Given the description of an element on the screen output the (x, y) to click on. 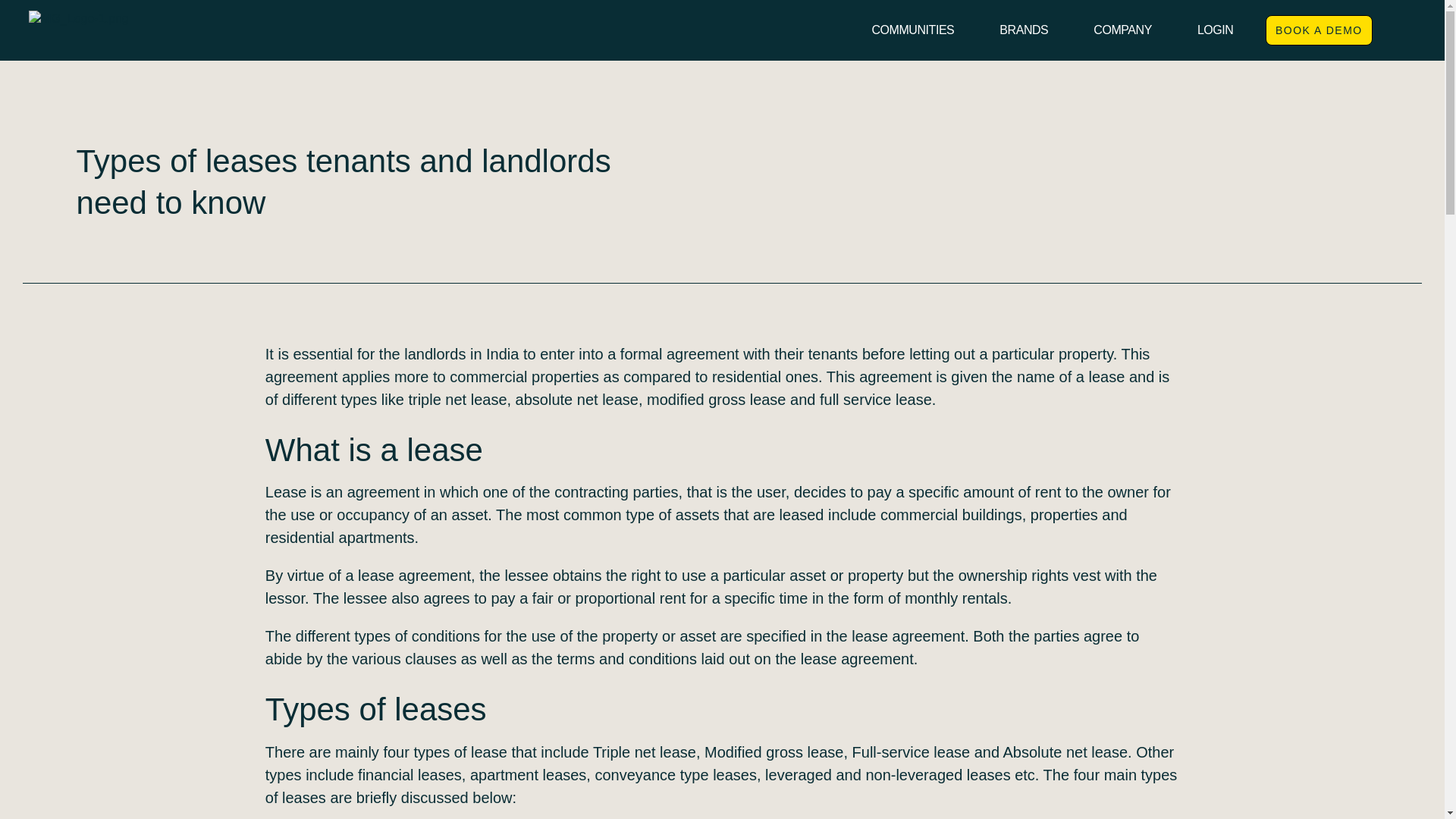
BRANDS (1023, 30)
COMPANY (1122, 30)
LOGIN (1215, 30)
COMMUNITIES (913, 30)
